Given the description of an element on the screen output the (x, y) to click on. 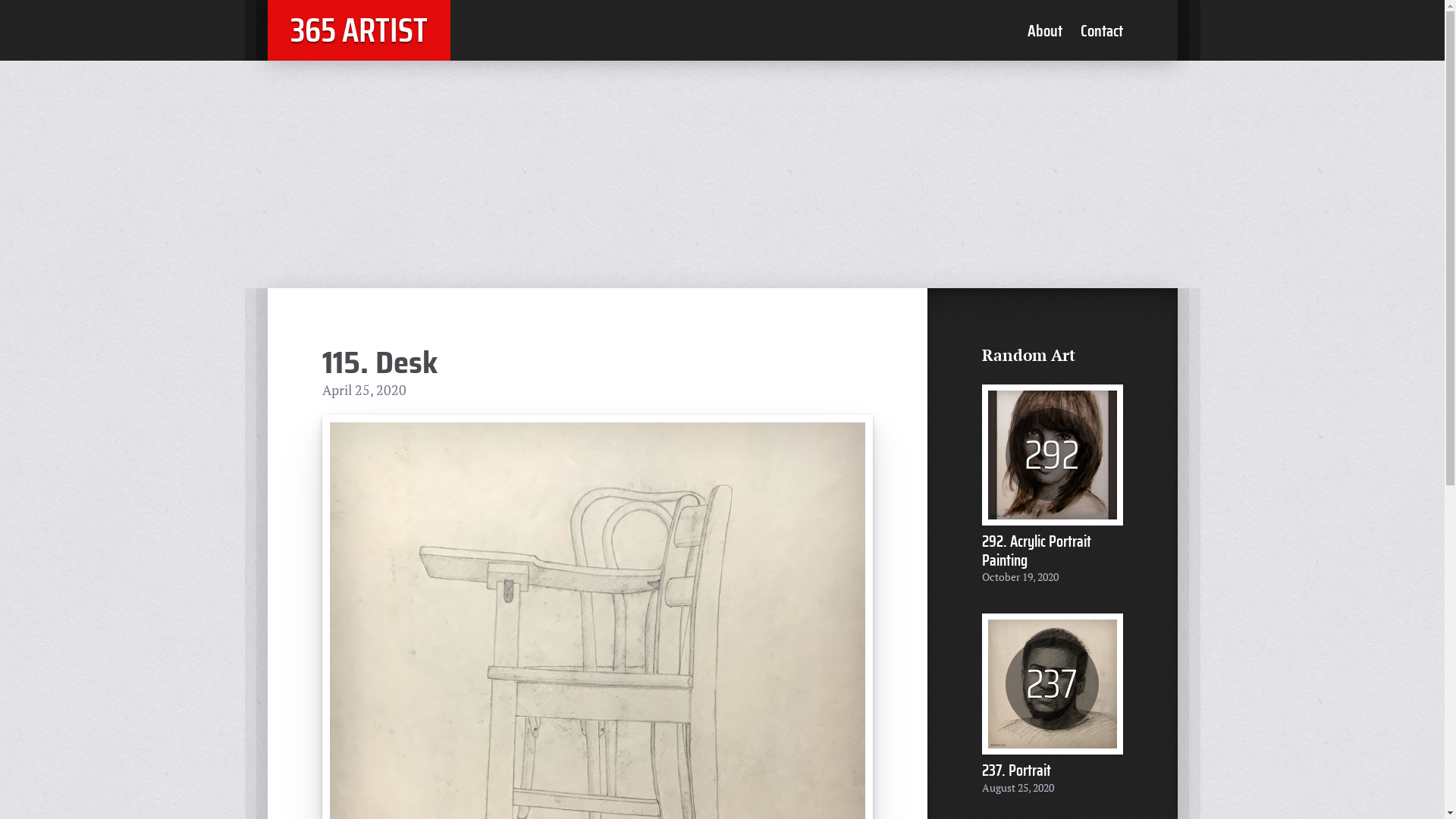
Advertisement Element type: hover (721, 174)
292
292. Acrylic Portrait Painting
October 19, 2020 Element type: text (1051, 485)
Contact Element type: text (1100, 30)
About Element type: text (1043, 30)
365 ARTIST Element type: text (357, 30)
237
237. Portrait
August 25, 2020 Element type: text (1051, 704)
